Given the description of an element on the screen output the (x, y) to click on. 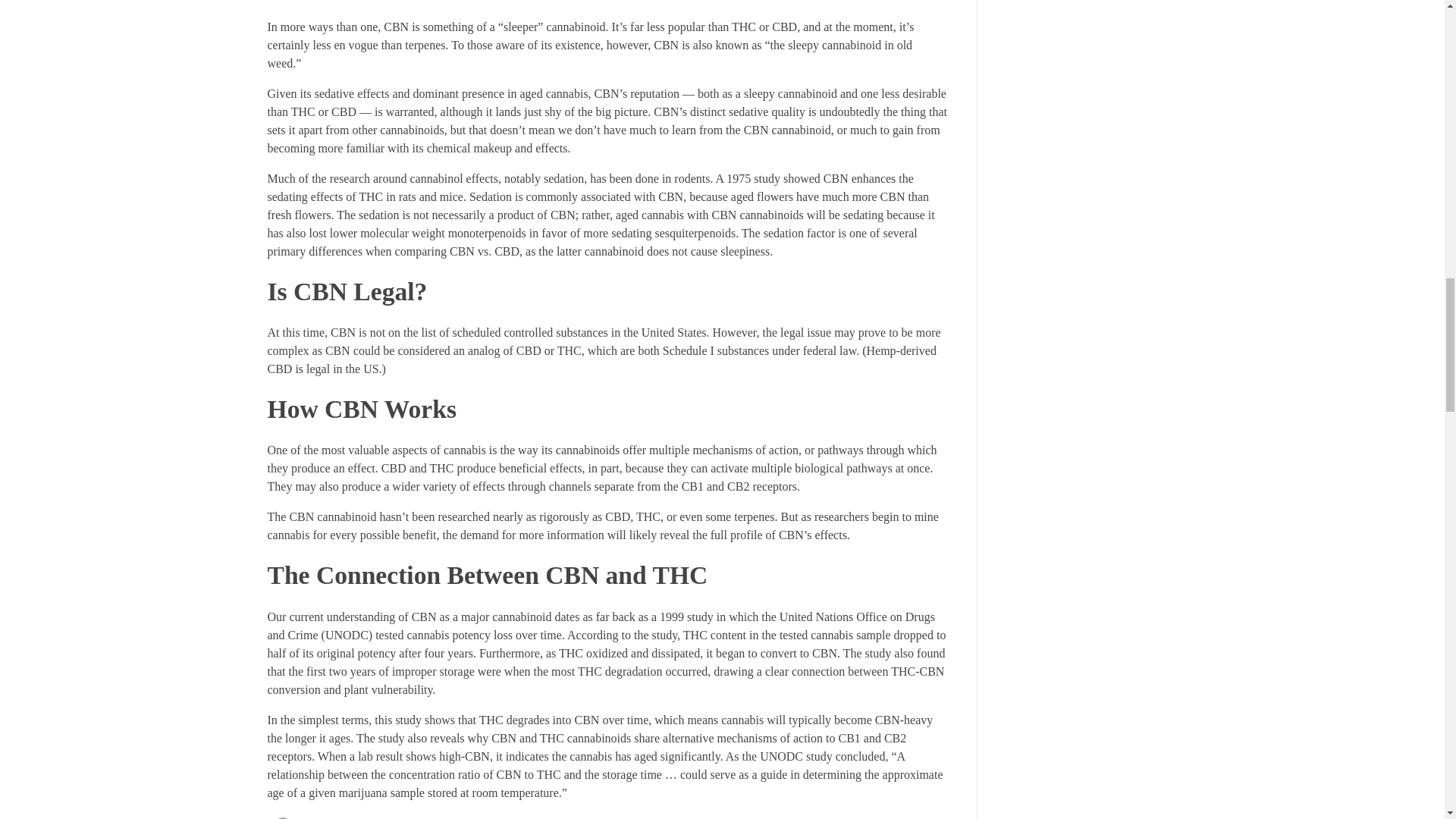
Facebook (281, 816)
Telegram (342, 816)
Facebook (281, 816)
Twitter (312, 816)
Telegram (342, 816)
Twitter (312, 816)
